Given the description of an element on the screen output the (x, y) to click on. 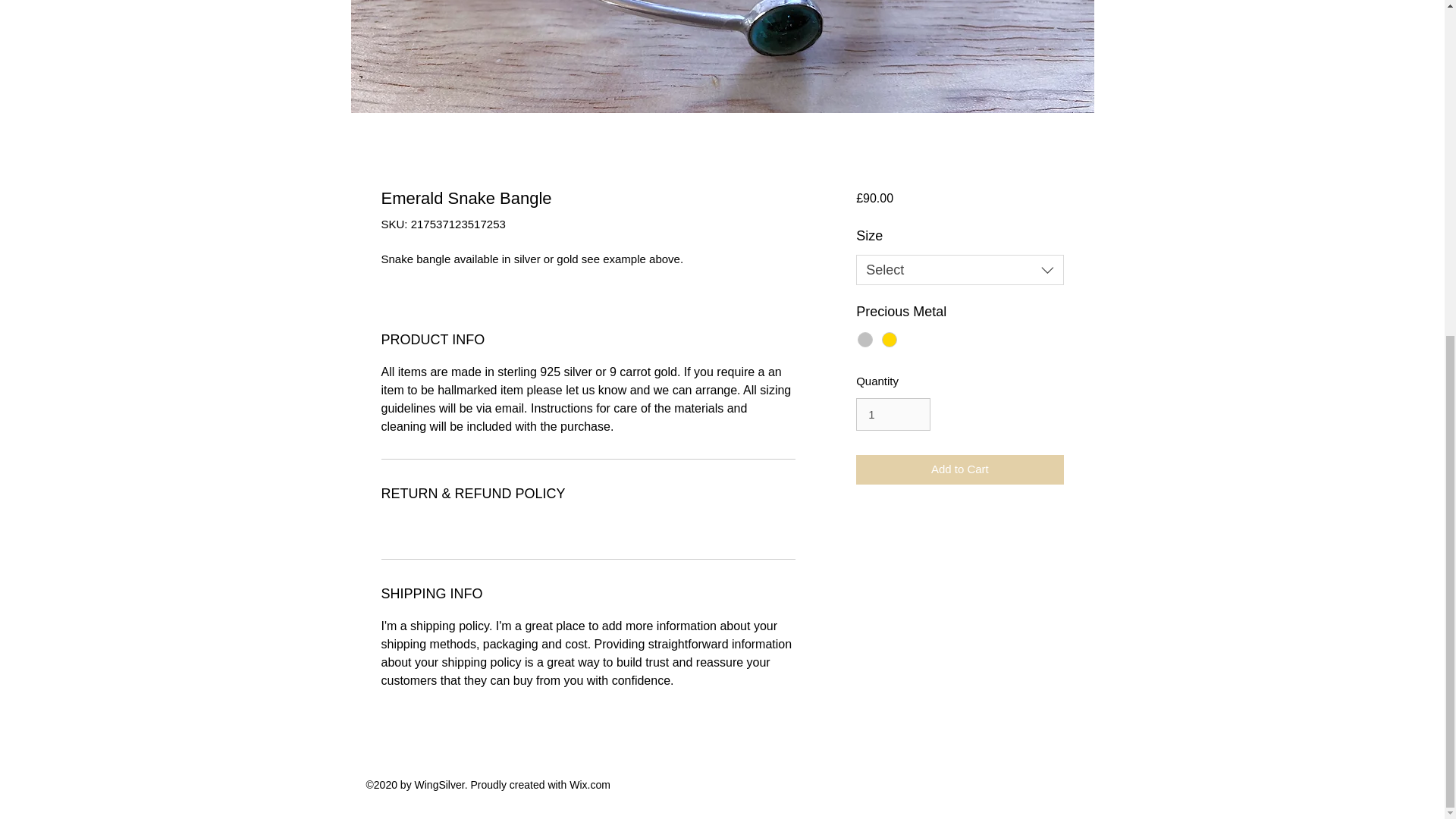
Select (959, 269)
Add to Cart (959, 469)
1 (893, 414)
